Given the description of an element on the screen output the (x, y) to click on. 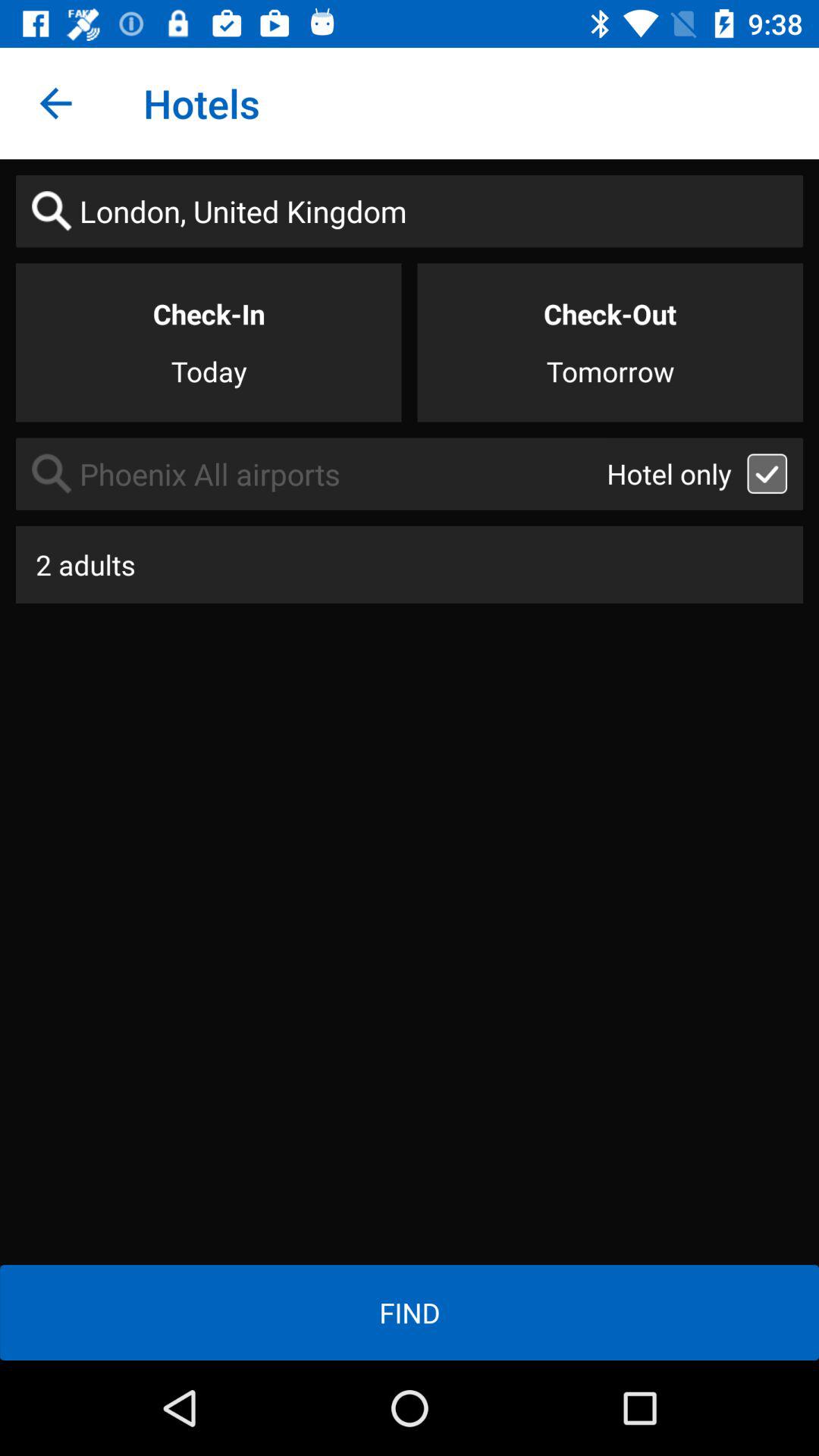
select londonunited kingdom on the page (409, 210)
click on box which is right hand side of text hotel only (767, 473)
select the text which is immediately below phoenix all airports (409, 564)
